Given the description of an element on the screen output the (x, y) to click on. 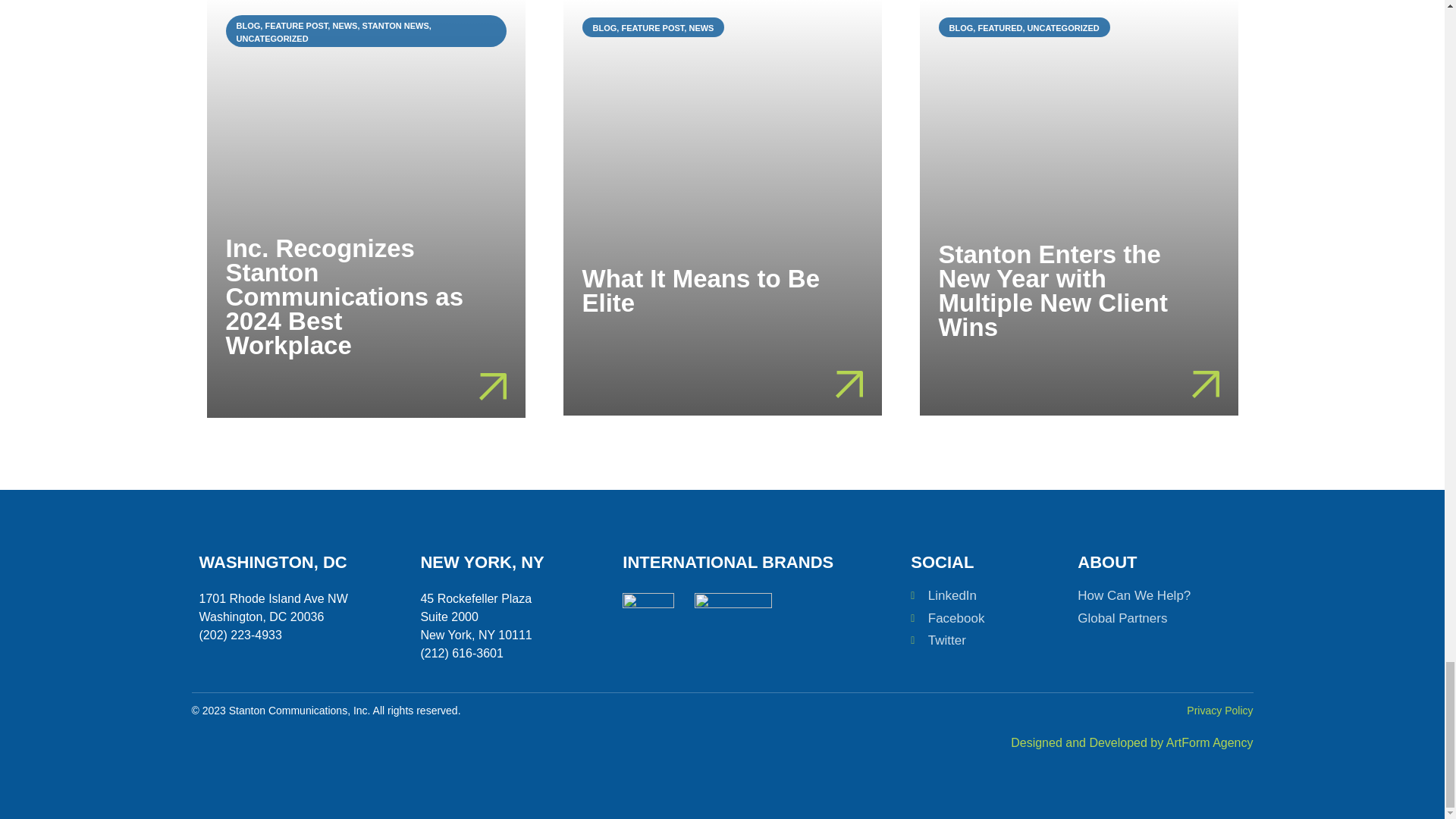
Facebook (986, 618)
Global Partners (1150, 618)
Twitter (986, 640)
What It Means to Be Elite (701, 290)
LinkedIn (986, 596)
How Can We Help? (1150, 596)
Stanton Enters the New Year with Multiple New Client Wins  (1054, 290)
Privacy Policy (1219, 710)
Designed and Developed by ArtForm Agency (1131, 742)
